Given the description of an element on the screen output the (x, y) to click on. 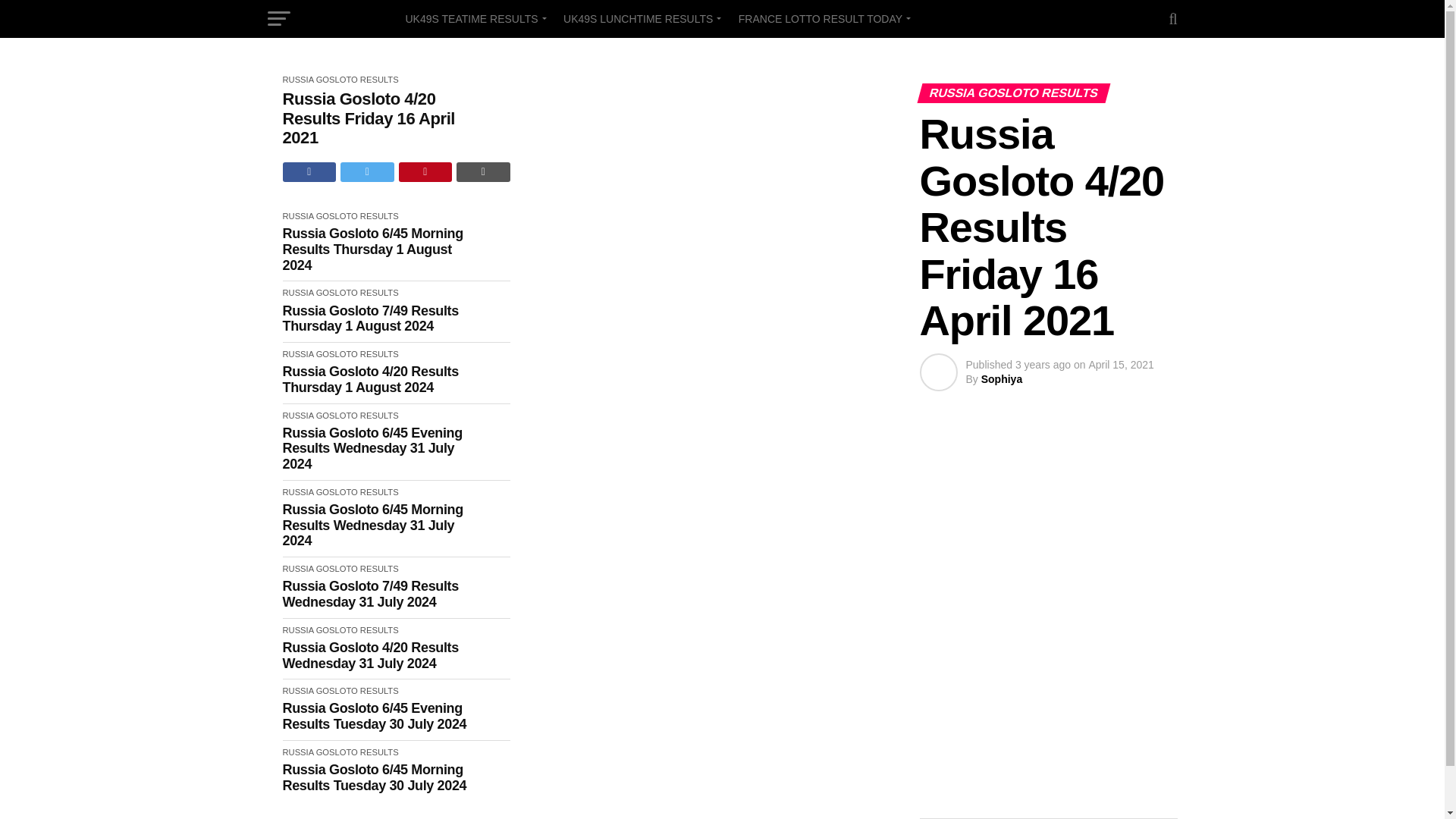
UK49S TEATIME RESULTS (473, 18)
UK49S LUNCHTIME RESULTS (639, 18)
RUSSIA GOSLOTO RESULTS (339, 215)
Tweet This Post (367, 171)
RUSSIA GOSLOTO RESULTS (339, 292)
Pin This Post (425, 171)
RUSSIA GOSLOTO RESULTS (339, 79)
FRANCE LOTTO RESULT TODAY (822, 18)
Share on Facebook (309, 171)
